Given the description of an element on the screen output the (x, y) to click on. 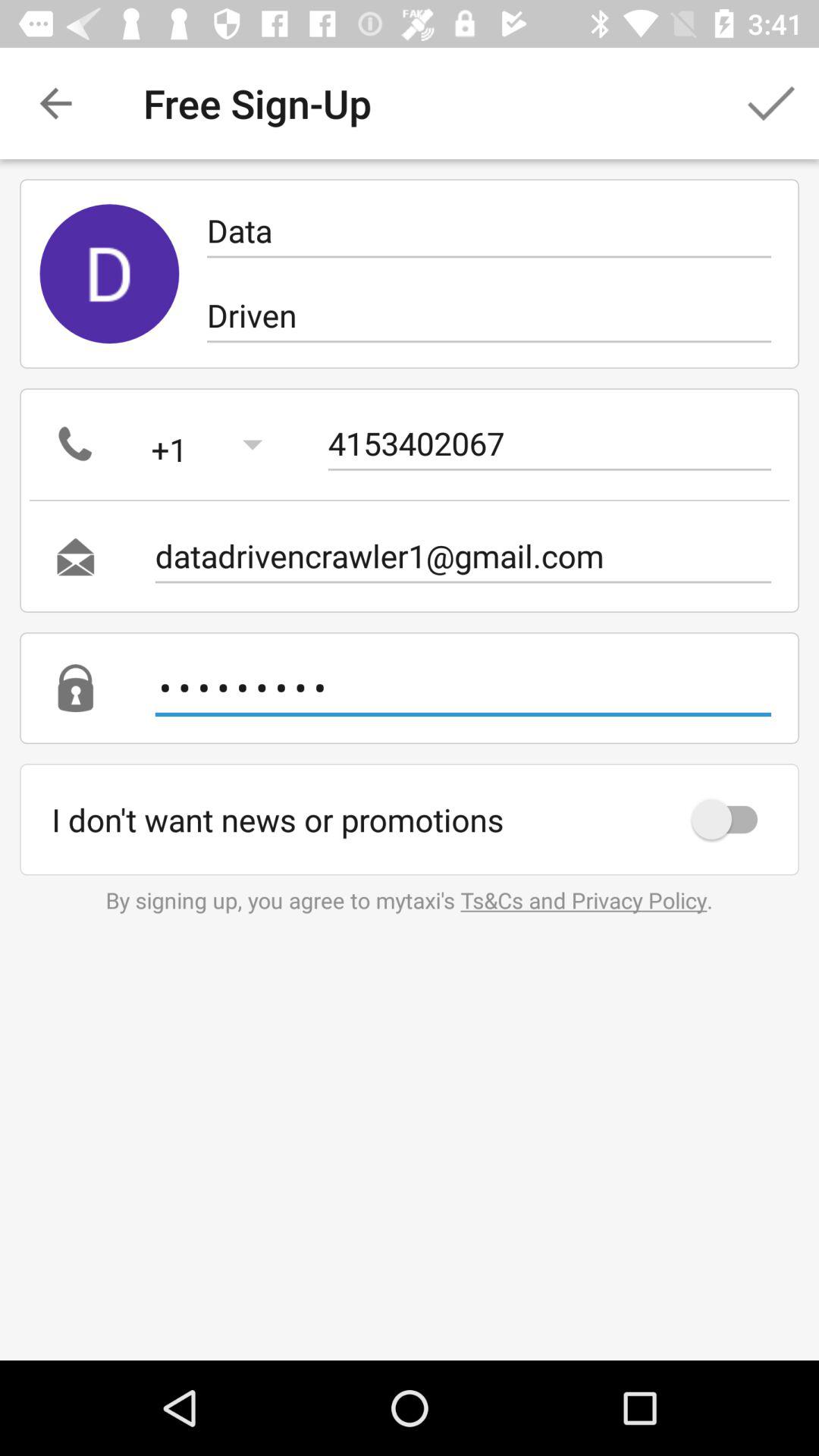
press the driven (489, 315)
